Given the description of an element on the screen output the (x, y) to click on. 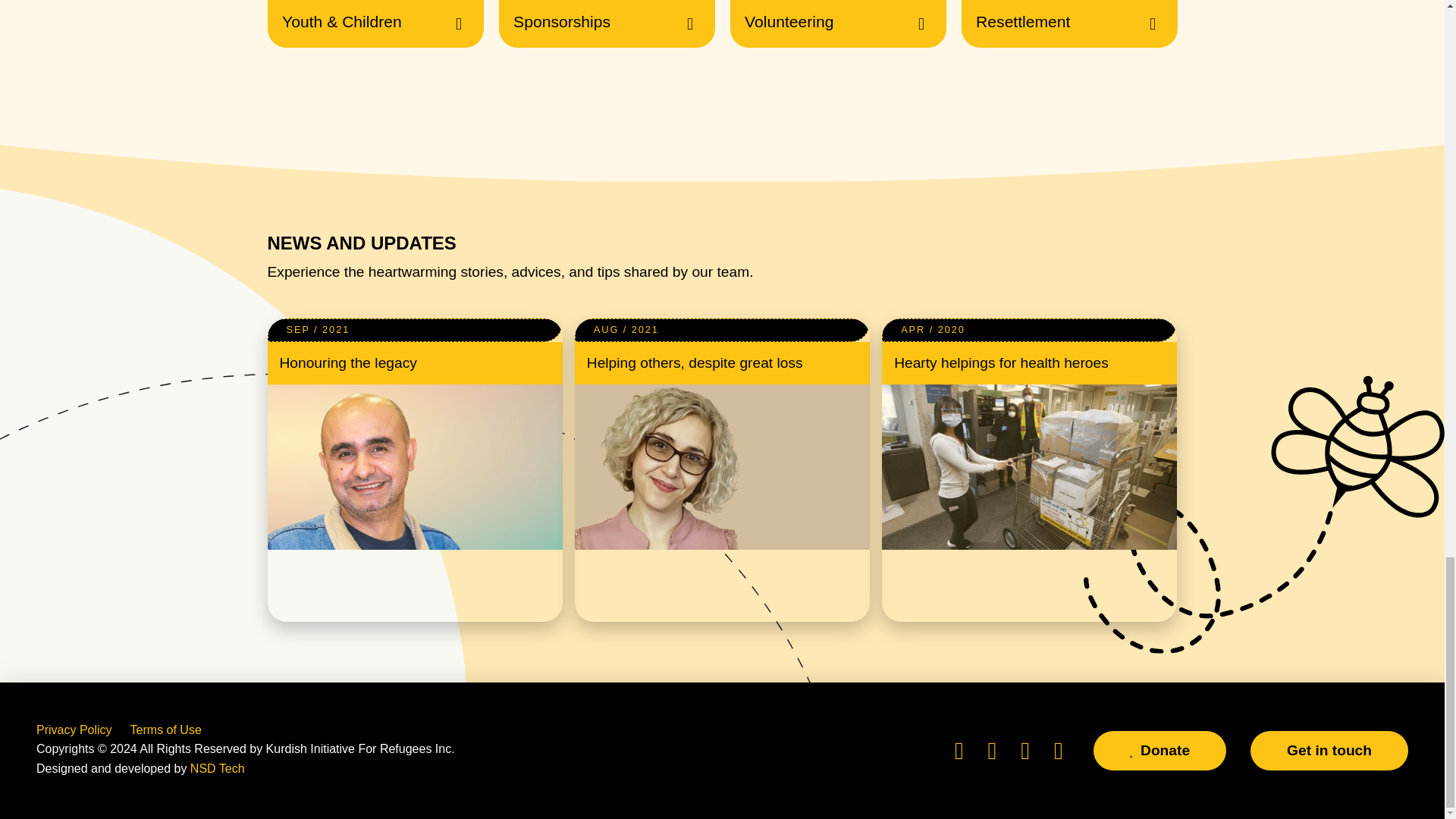
Resettlement (1068, 23)
Get in touch (1328, 750)
NSD Tech (217, 768)
Volunteering (836, 23)
Terms of Use (166, 729)
Donate (1159, 750)
Sponsorships (606, 23)
Privacy Policy (74, 729)
